Given the description of an element on the screen output the (x, y) to click on. 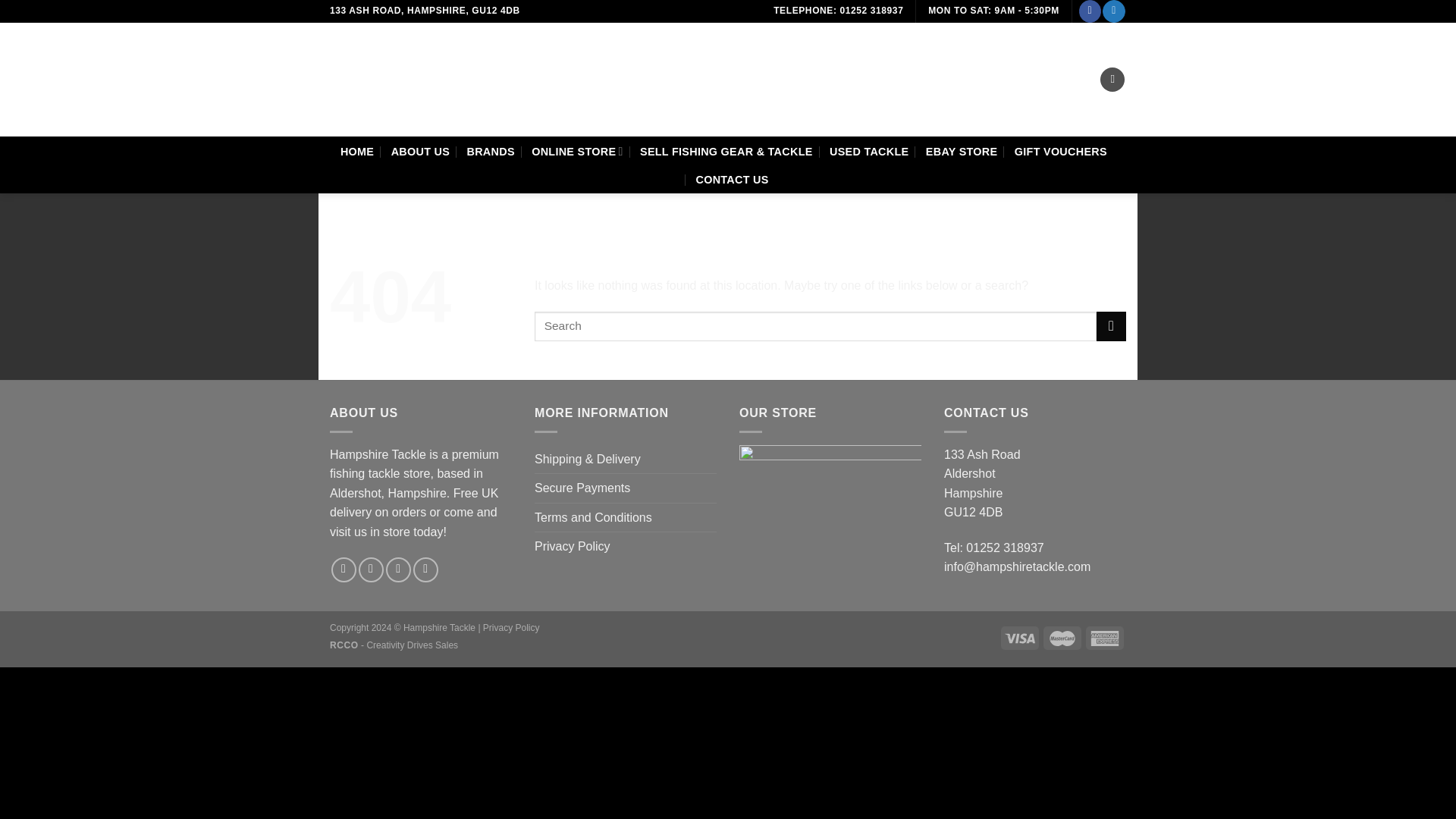
Secure Payments (582, 488)
Follow on Facebook (1089, 11)
EBAY STORE (961, 151)
Follow on Facebook (343, 569)
Search (808, 79)
USED TACKLE (868, 151)
ONLINE STORE (577, 151)
CONTACT US (731, 179)
BRANDS (489, 151)
Basket (1112, 79)
